Given the description of an element on the screen output the (x, y) to click on. 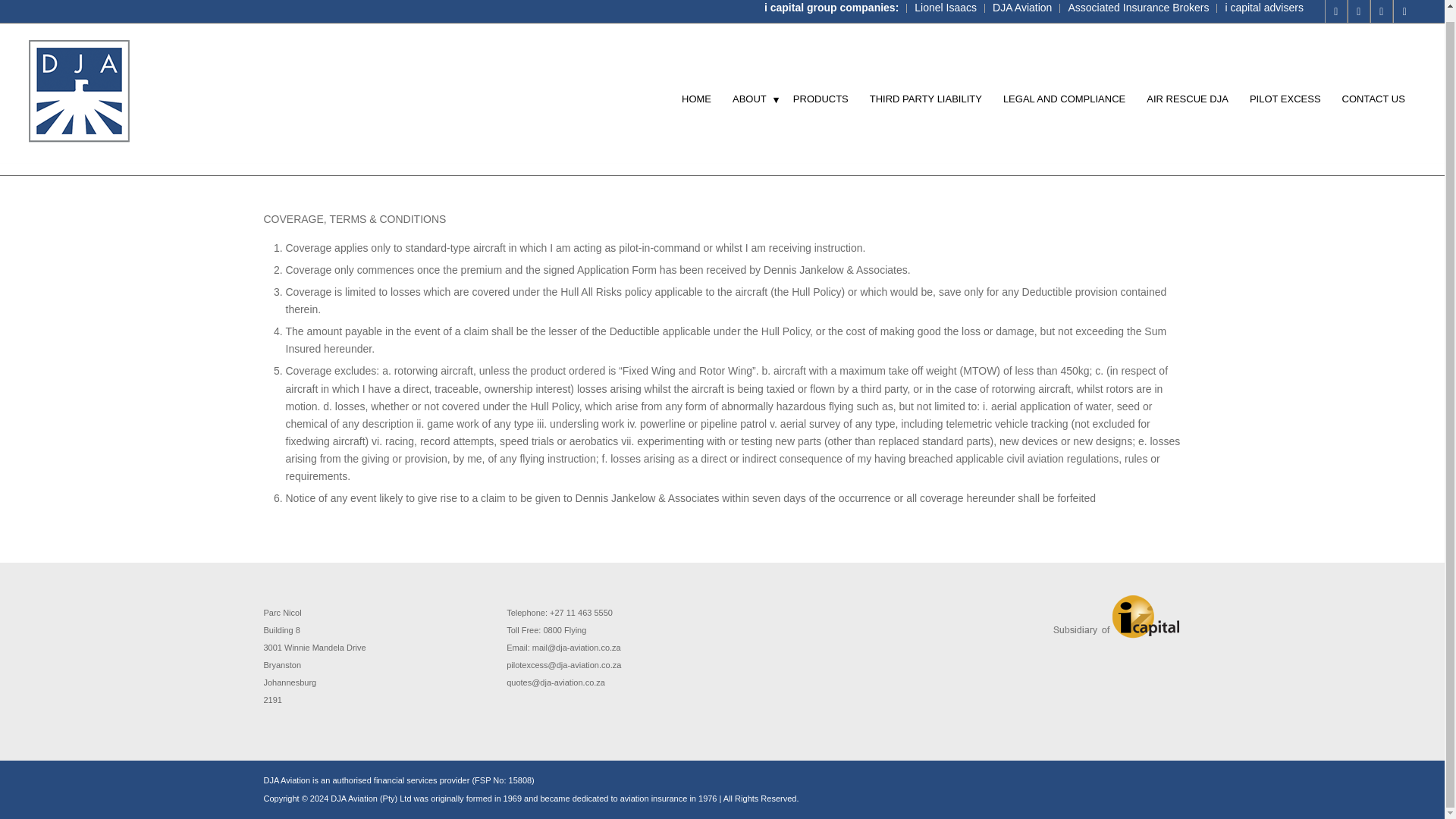
DJA Aviation (1021, 1)
Lionel Isaacs (945, 1)
Instagram (1381, 5)
i capital advisers (1263, 1)
LinkedIn (1403, 5)
Facebook (1336, 5)
PILOT EXCESS (1285, 87)
Twitter (1358, 5)
ABOUT (752, 87)
AIR RESCUE DJA (1187, 87)
0800 Flying (564, 629)
LEGAL AND COMPLIANCE (1063, 87)
HOME (696, 87)
Associated Insurance Brokers (1137, 1)
PRODUCTS (821, 87)
